Given the description of an element on the screen output the (x, y) to click on. 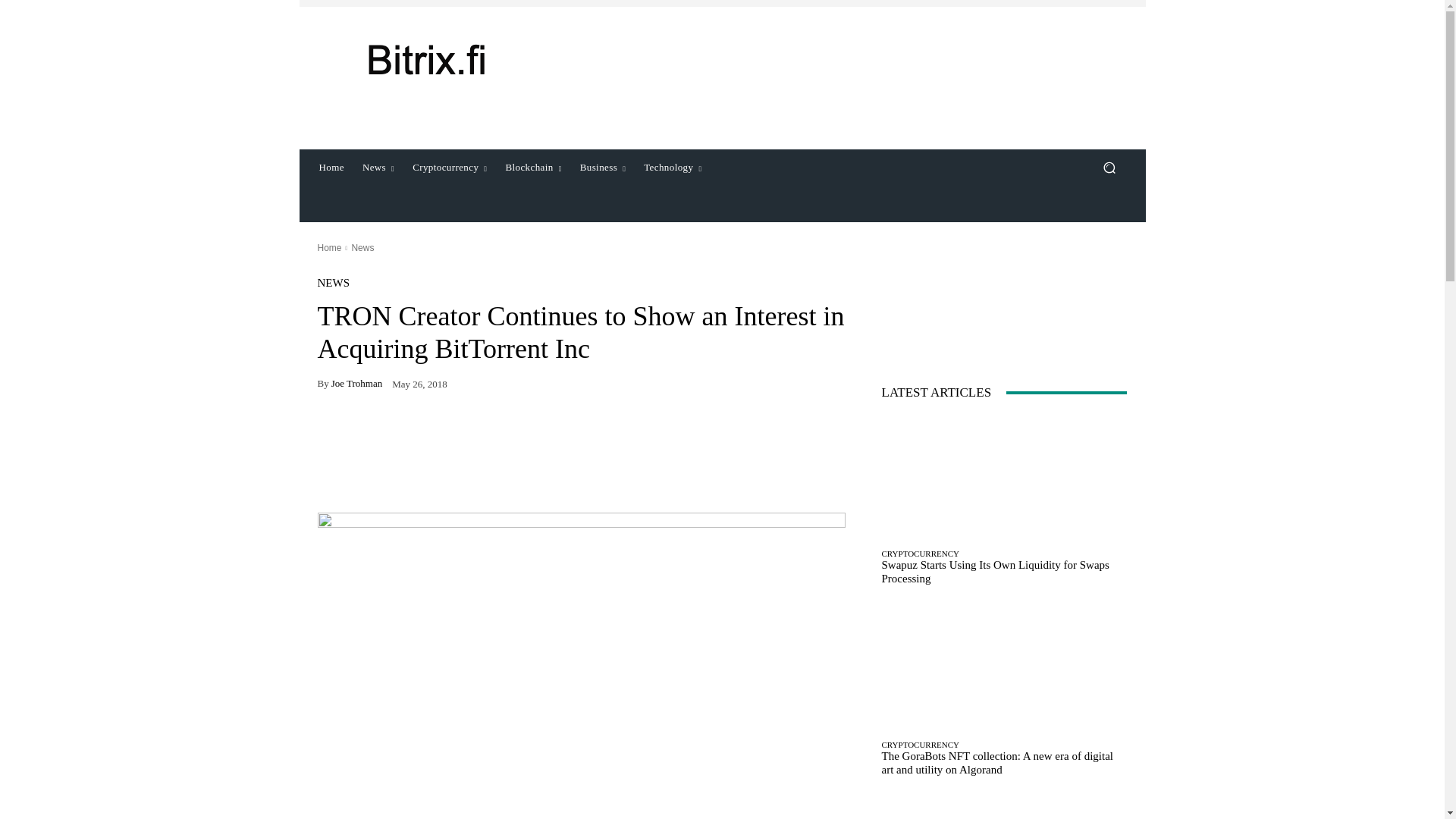
Cryptocurrency (449, 167)
Bitrix.fi (426, 59)
News (378, 167)
Bitrix.fi (425, 59)
Home (330, 167)
